Given the description of an element on the screen output the (x, y) to click on. 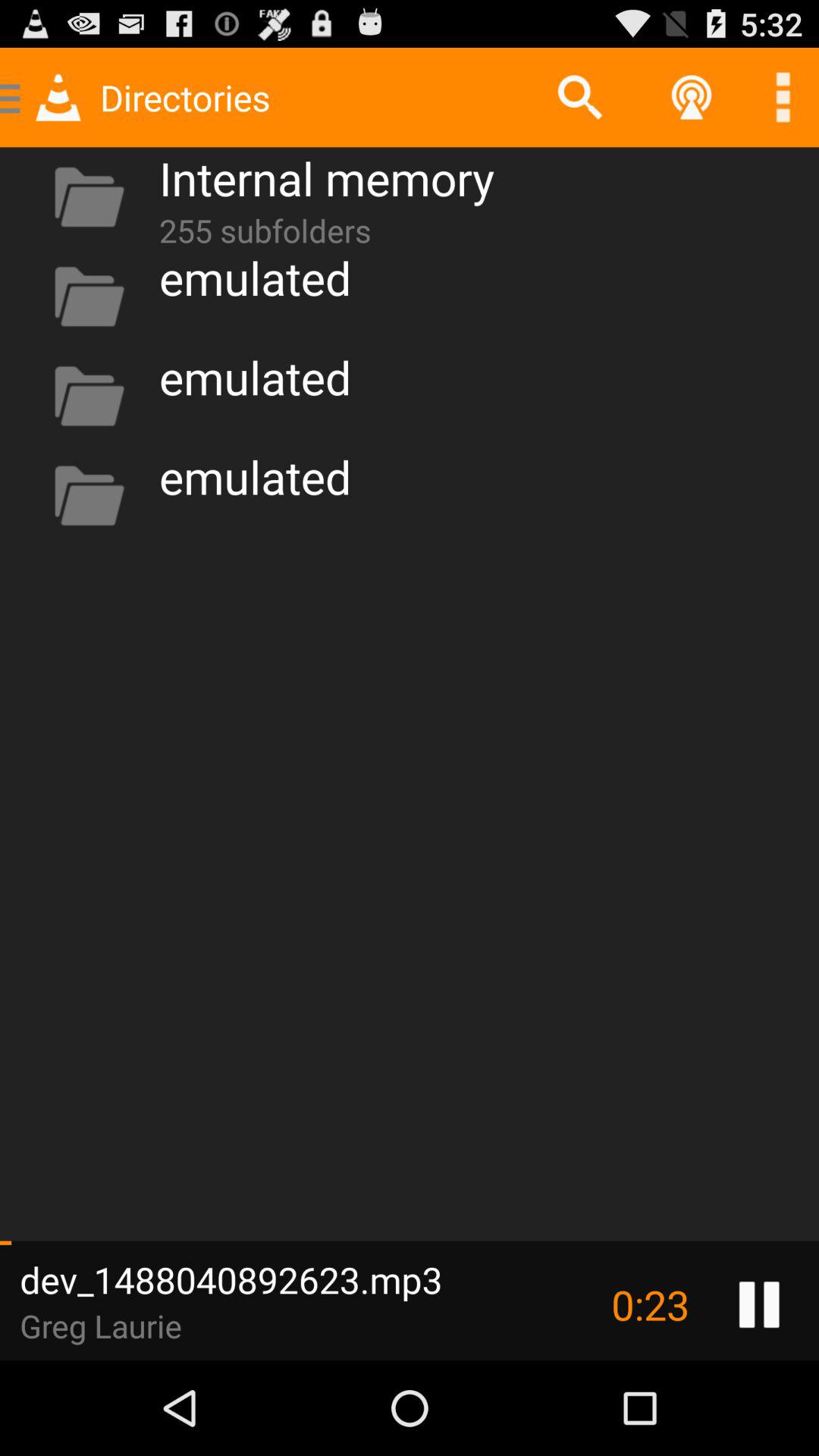
choose app to the right of the internal memory app (579, 97)
